Given the description of an element on the screen output the (x, y) to click on. 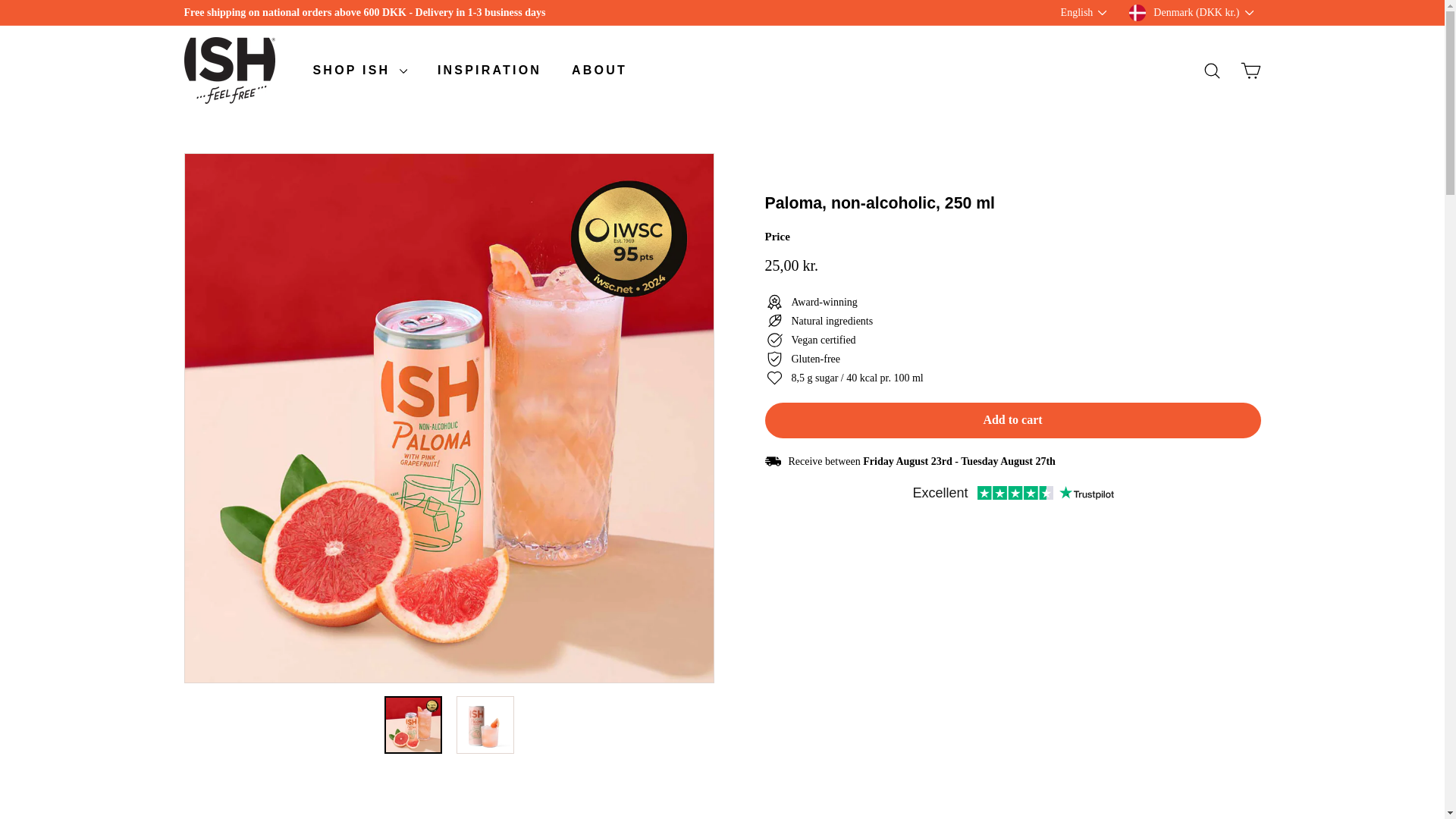
ABOUT (599, 70)
INSPIRATION (489, 70)
English (1088, 12)
Customer reviews powered by Trustpilot (1012, 494)
